Given the description of an element on the screen output the (x, y) to click on. 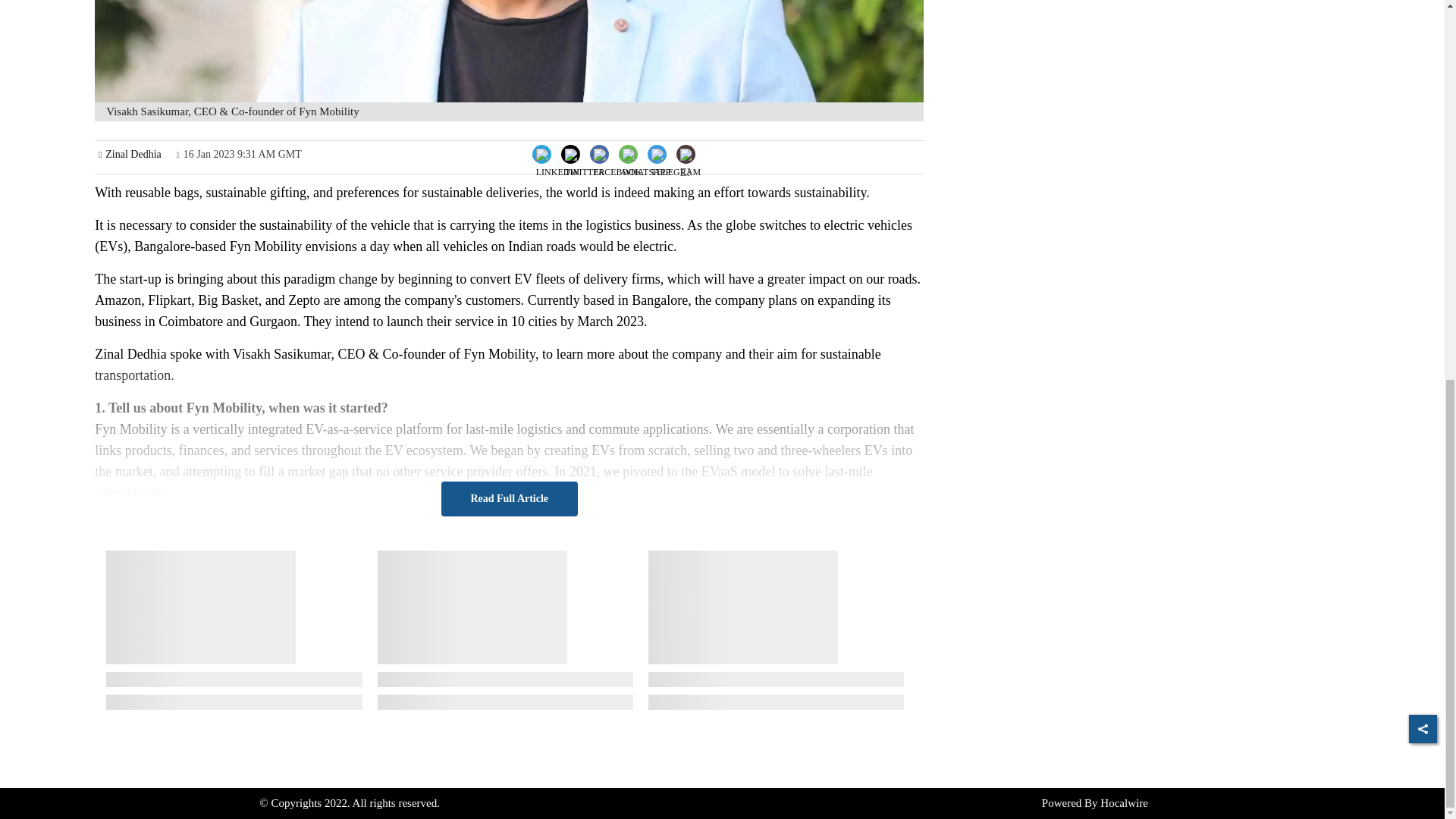
linkedin (557, 165)
LinkedIn (557, 152)
Twitter (584, 152)
Facebook (617, 152)
telegram (675, 165)
twitter (584, 165)
facebook (618, 165)
Share by Email (686, 155)
whatsapp (646, 165)
